Given the description of an element on the screen output the (x, y) to click on. 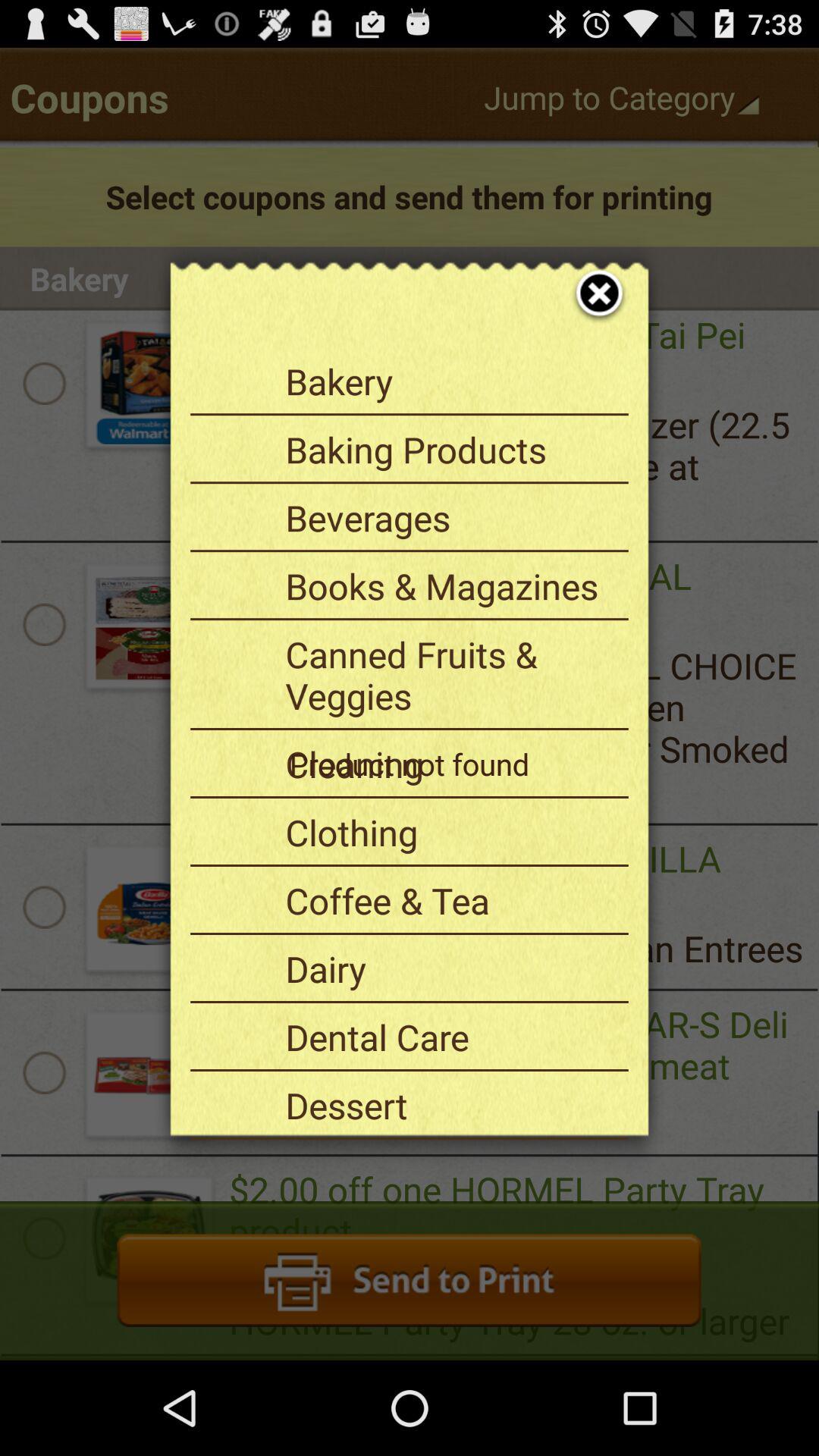
turn off the item below the cleaning app (451, 831)
